Given the description of an element on the screen output the (x, y) to click on. 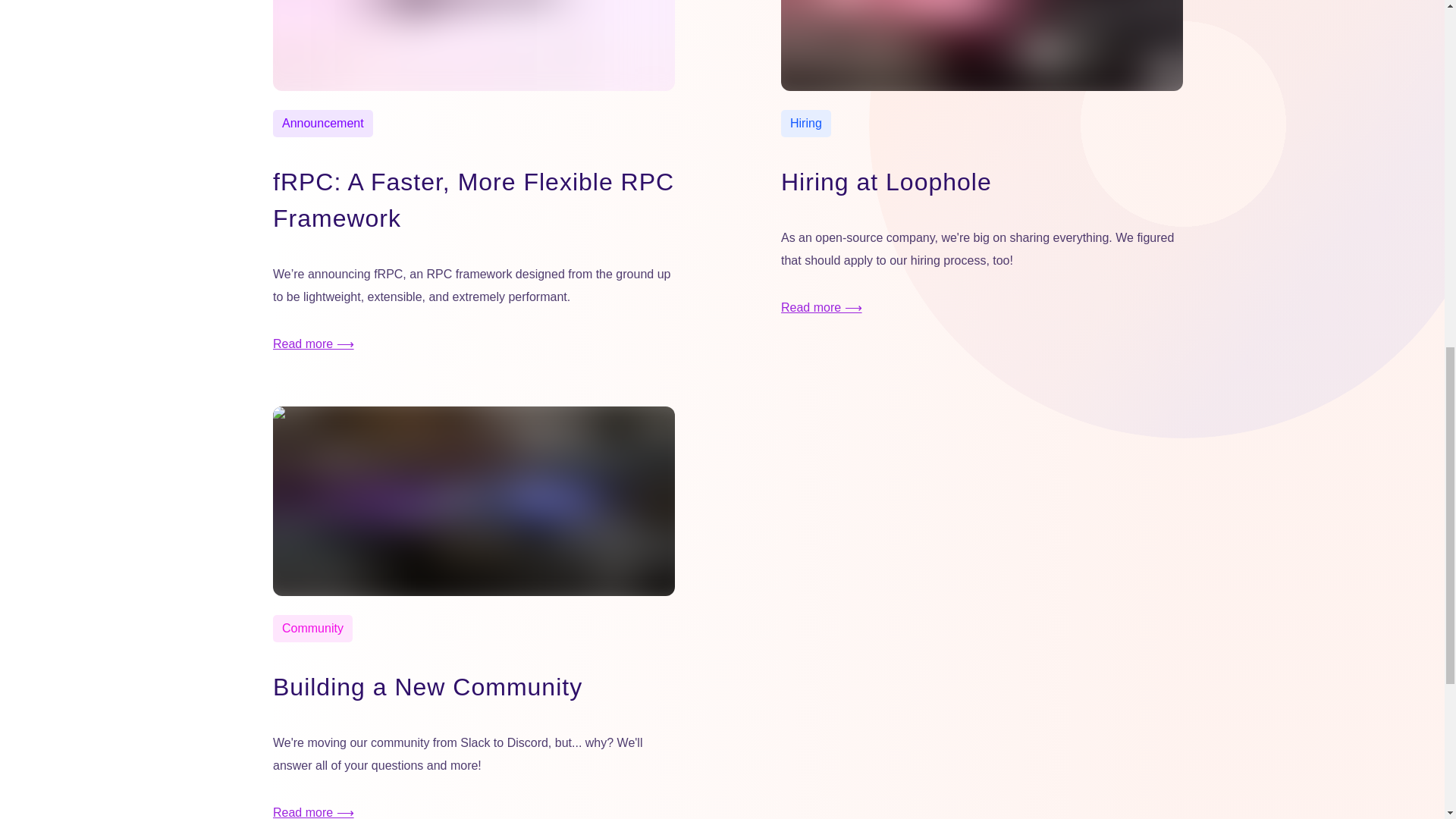
Hiring at Loophole Header Image (981, 45)
Announcing fRPC: Header Image (474, 45)
Building a New Community Header Image (474, 501)
